Given the description of an element on the screen output the (x, y) to click on. 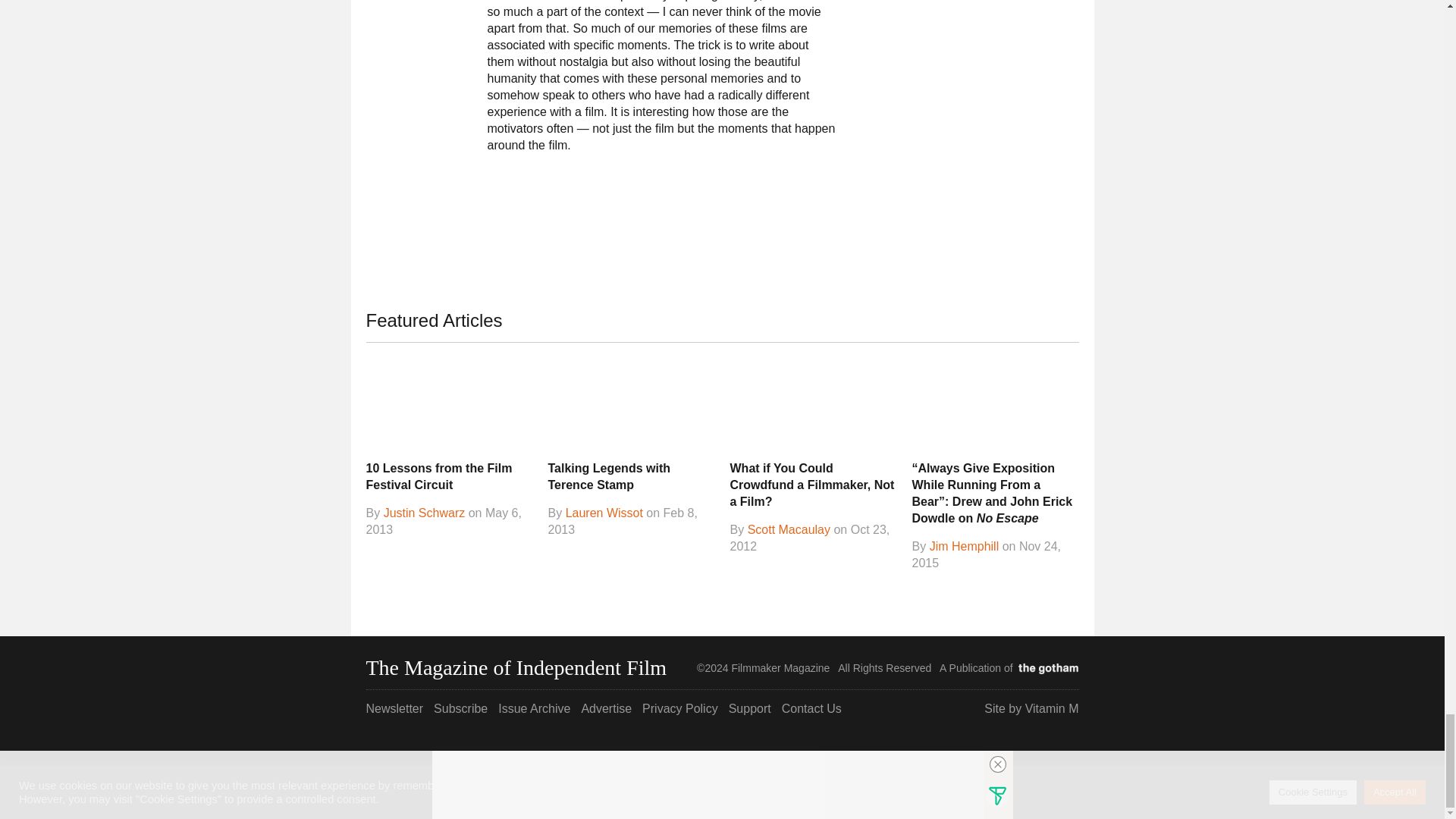
Posts by Scott Macaulay (788, 530)
Posts by Lauren Wissot (604, 513)
Posts by Justin Schwarz (424, 513)
